Given the description of an element on the screen output the (x, y) to click on. 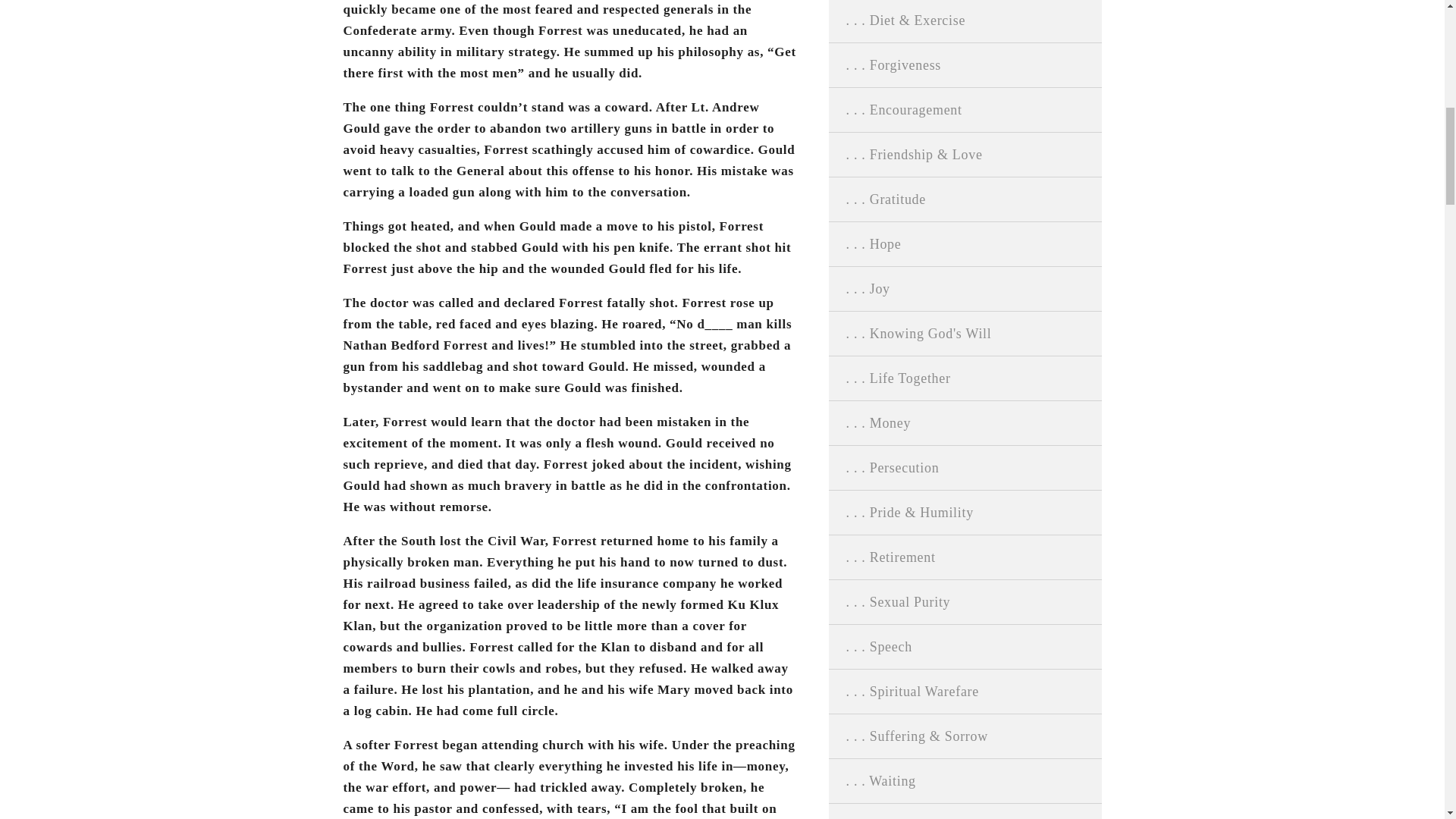
. . . Knowing God's Will (964, 333)
. . . Encouragement (964, 109)
. . . Gratitude (964, 199)
. . . Money (964, 423)
. . . Forgiveness (964, 64)
. . . Life Together (964, 378)
. . . Joy (964, 288)
. . . Persecution (964, 467)
. . . Hope (964, 243)
